Given the description of an element on the screen output the (x, y) to click on. 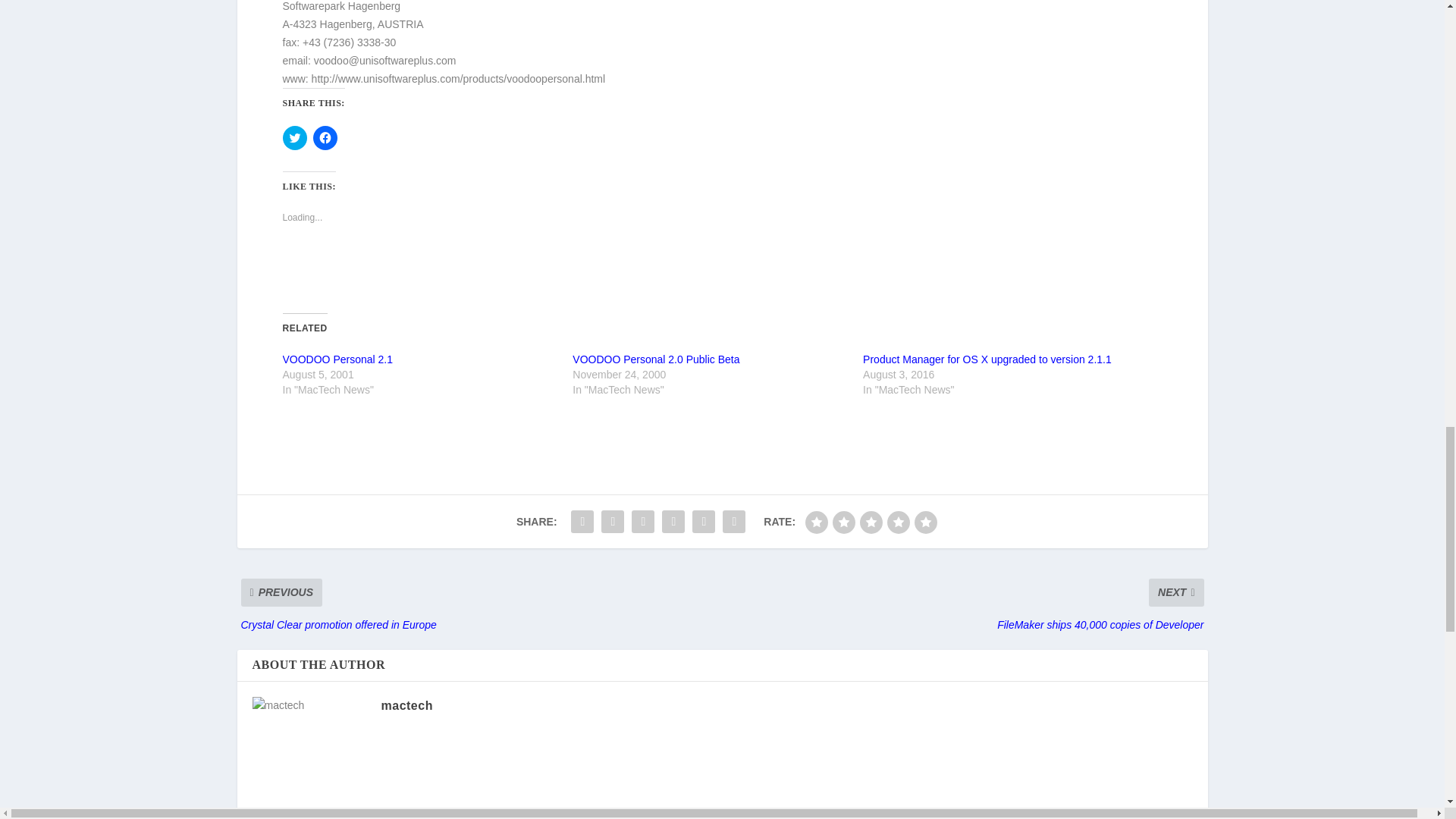
Share "VOODOO Personal 2.1.1" via Tumblr (642, 521)
Share "VOODOO Personal 2.1.1" via Facebook (581, 521)
Share "VOODOO Personal 2.1.1" via LinkedIn (673, 521)
VOODOO Personal 2.1 (337, 358)
Product Manager for OS X upgraded to version 2.1.1 (987, 358)
Click to share on Facebook (324, 137)
Share "VOODOO Personal 2.1.1" via Stumbleupon (703, 521)
Share "VOODOO Personal 2.1.1" via Twitter (611, 521)
VOODOO Personal 2.0 Public Beta (655, 358)
Like or Reblog (721, 270)
